Given the description of an element on the screen output the (x, y) to click on. 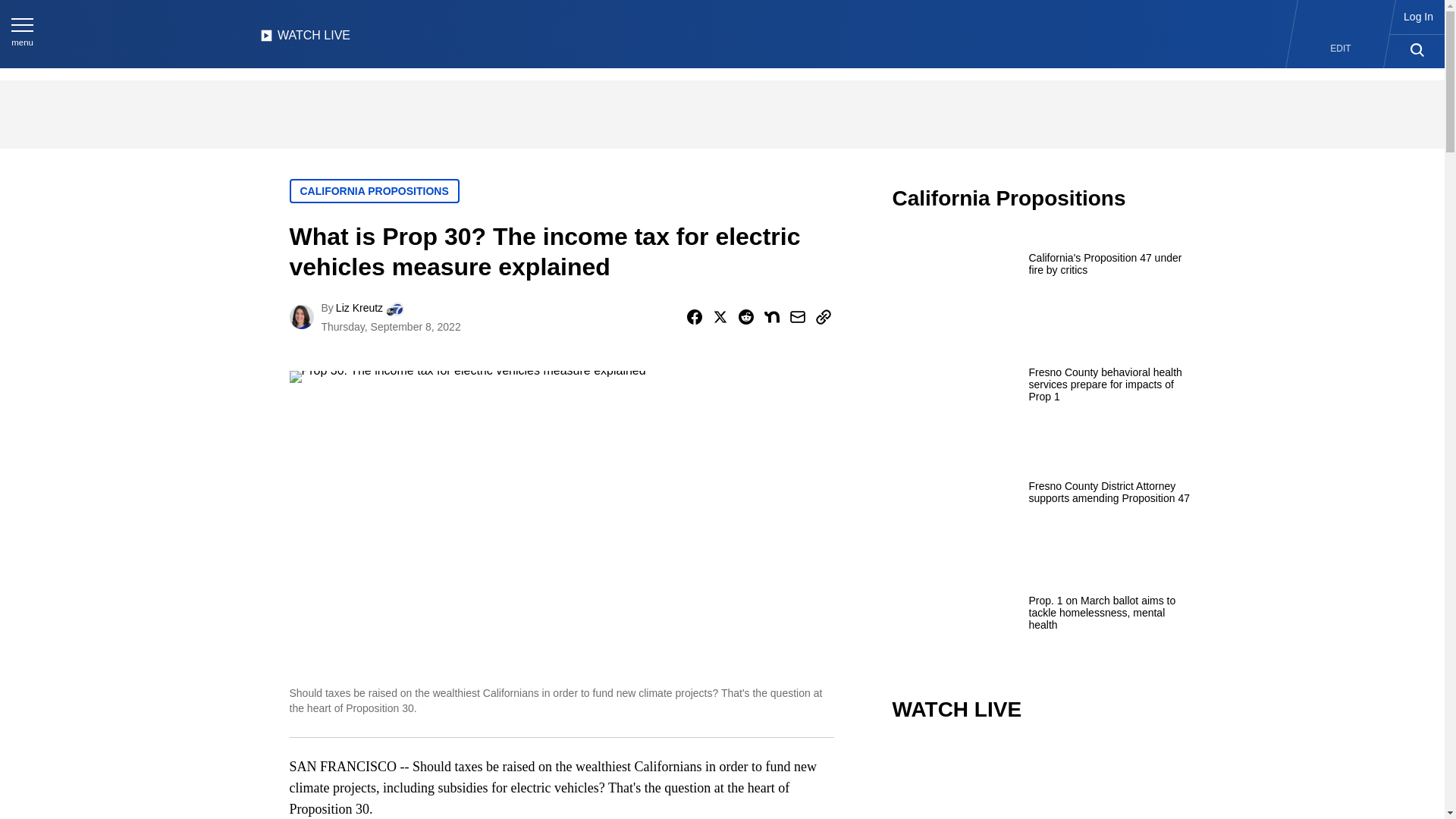
EDIT (1340, 48)
WATCH LIVE (305, 39)
video.title (1043, 781)
